Given the description of an element on the screen output the (x, y) to click on. 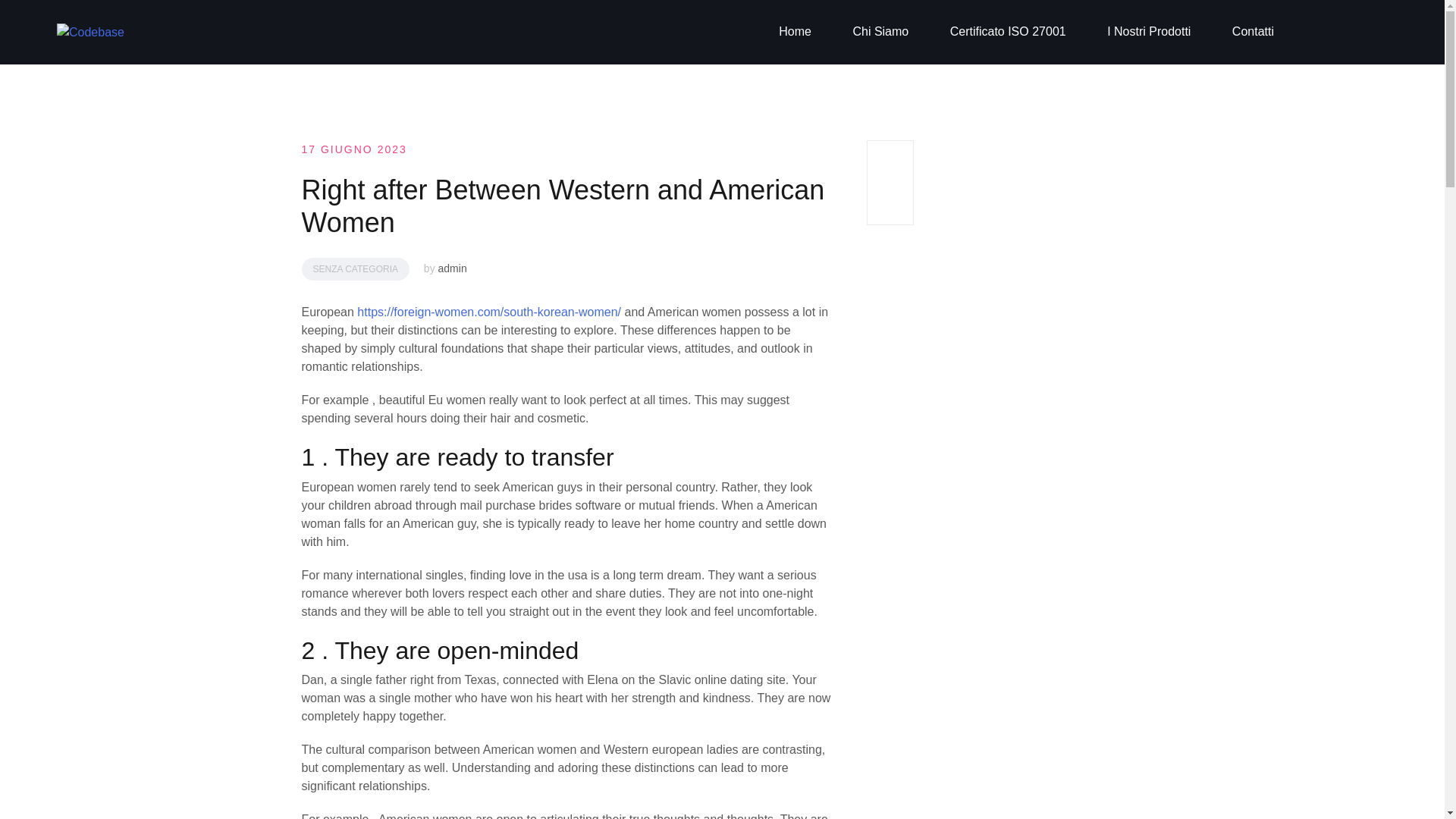
I Nostri Prodotti (1148, 31)
Contatti (1252, 31)
17 GIUGNO 2023 (354, 149)
Home (794, 31)
Chi Siamo (879, 31)
Certificato ISO 27001 (1007, 31)
SENZA CATEGORIA (355, 268)
admin (452, 268)
